Given the description of an element on the screen output the (x, y) to click on. 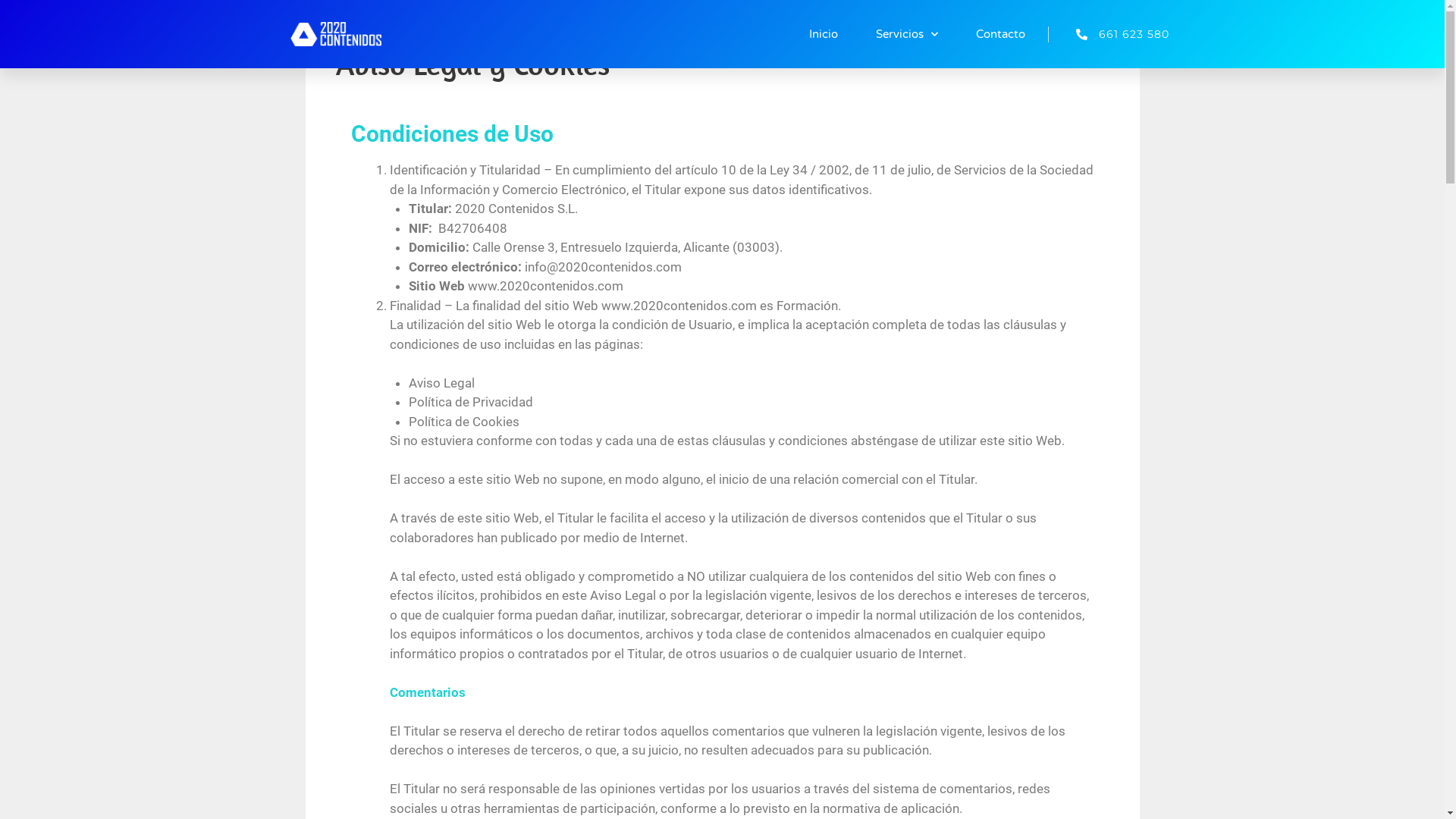
Inicio Element type: text (823, 34)
Contacto Element type: text (1000, 34)
Servicios Element type: text (906, 34)
